Given the description of an element on the screen output the (x, y) to click on. 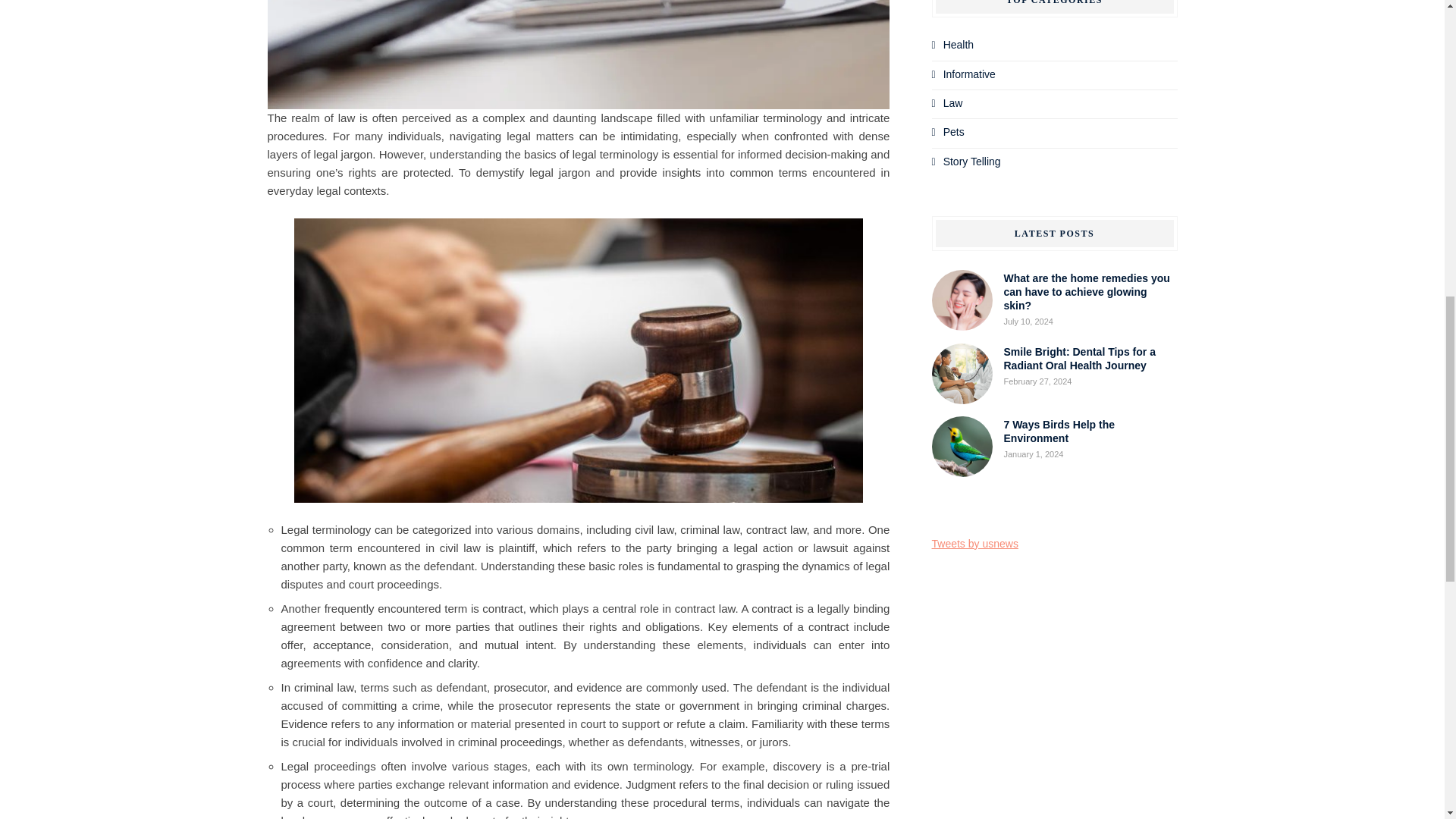
Health (958, 44)
Law (952, 102)
Story Telling (972, 161)
Informative (969, 73)
Smile Bright: Dental Tips for a Radiant Oral Health Journey (1080, 358)
Tweets by usnews (974, 543)
Pets (953, 132)
7 Ways Birds Help the Environment (1059, 431)
